Given the description of an element on the screen output the (x, y) to click on. 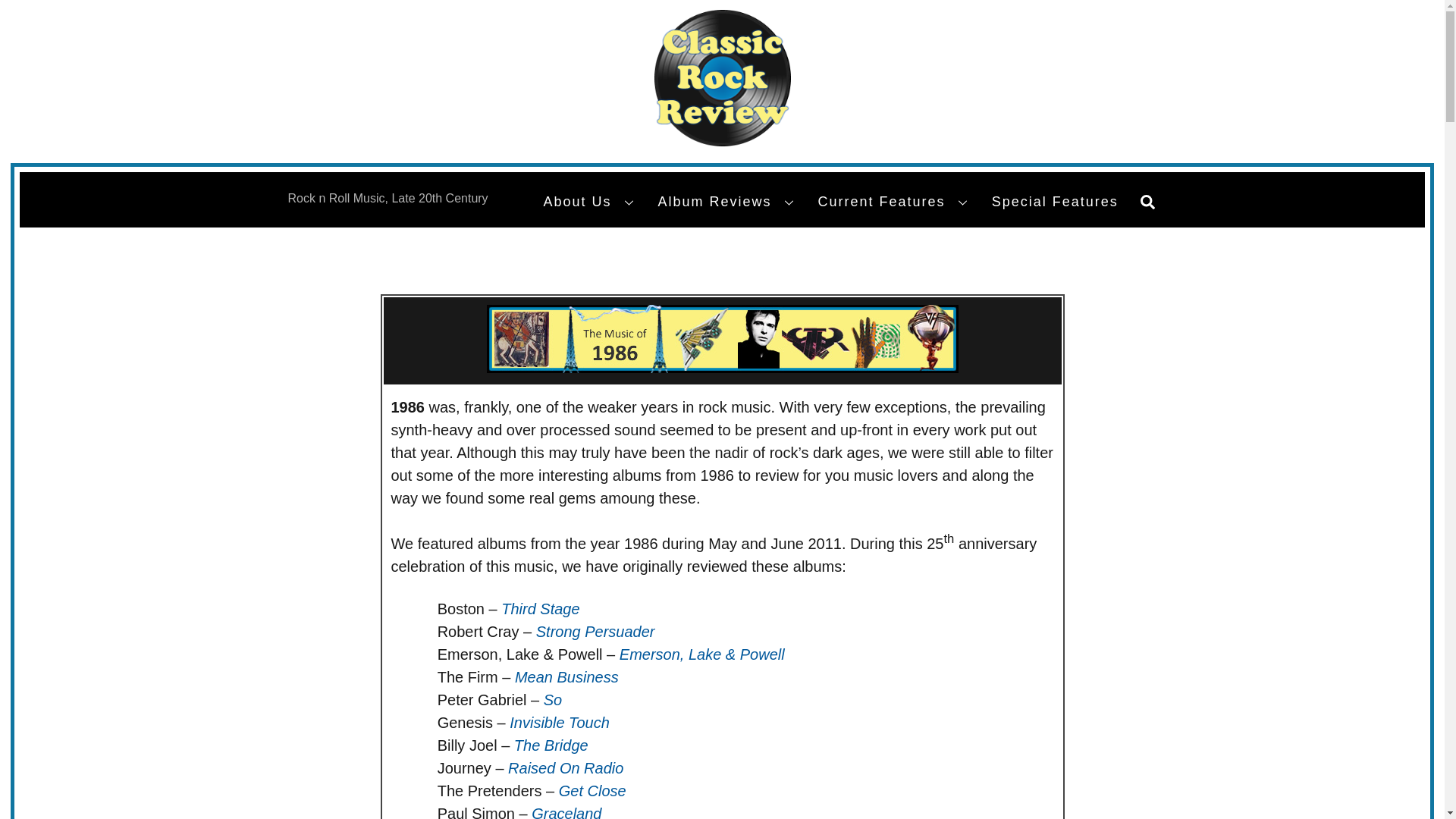
Strong Persuader (595, 631)
About Us (590, 201)
Special Features (1055, 201)
Get Close (592, 790)
Current Features (894, 201)
Search (1146, 201)
So (552, 699)
Classic Rock Review (721, 77)
Third Stage (539, 608)
Mean Business (566, 677)
Album Reviews (727, 201)
The Bridge (550, 745)
Graceland (566, 812)
Raised On Radio (565, 768)
